Given the description of an element on the screen output the (x, y) to click on. 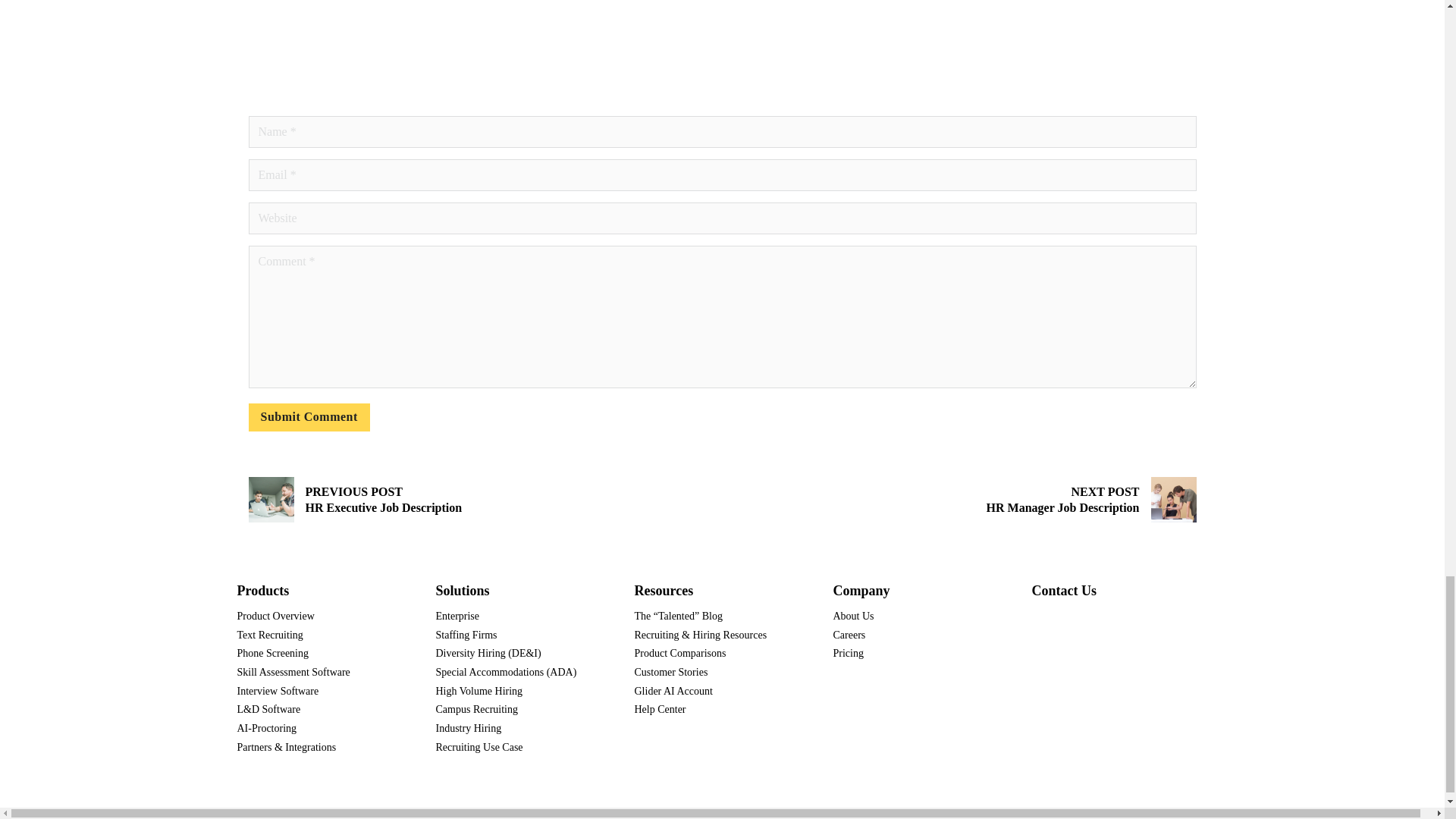
Submit Comment (308, 417)
